Given the description of an element on the screen output the (x, y) to click on. 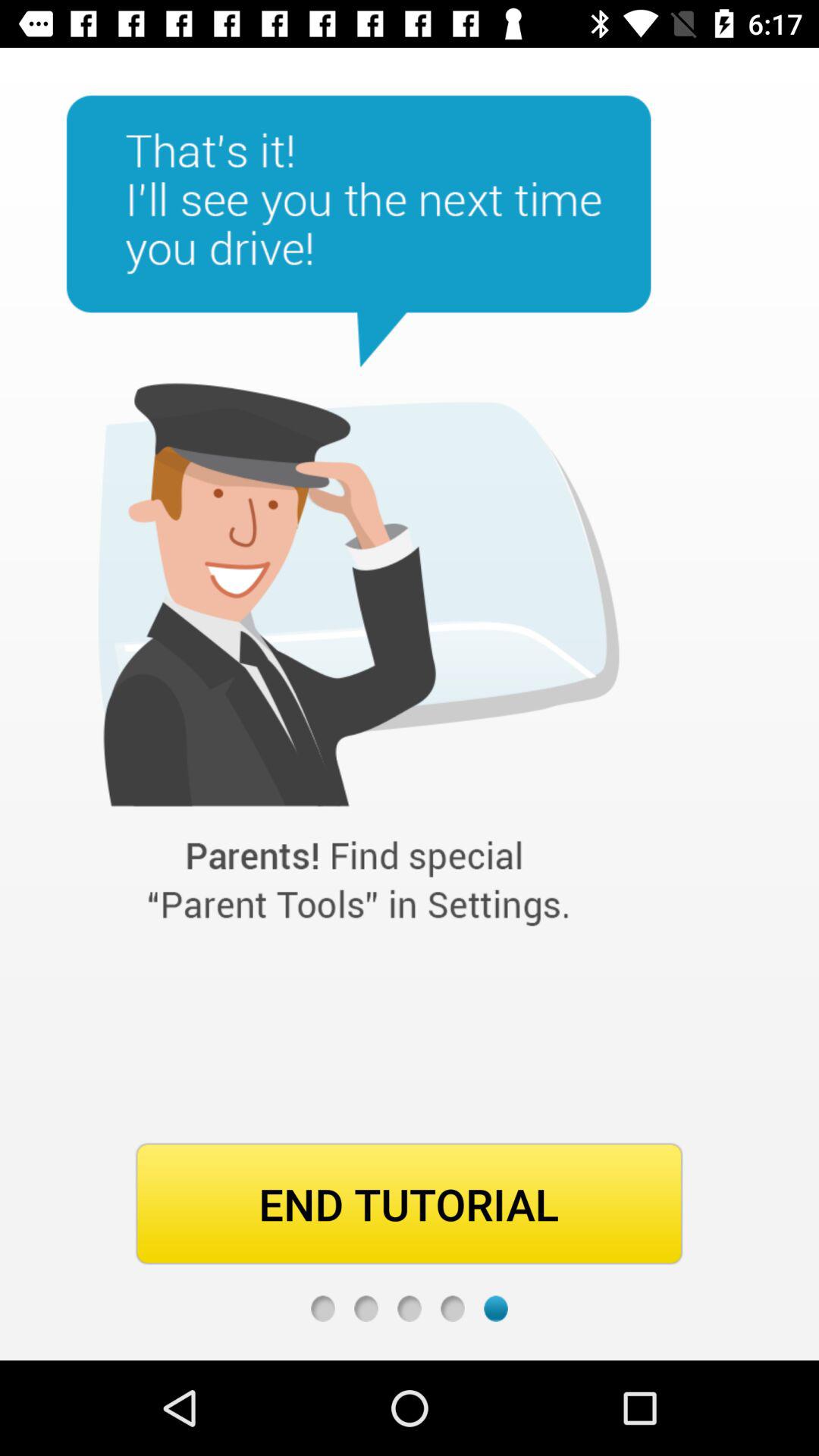
go to fourth page (452, 1308)
